Given the description of an element on the screen output the (x, y) to click on. 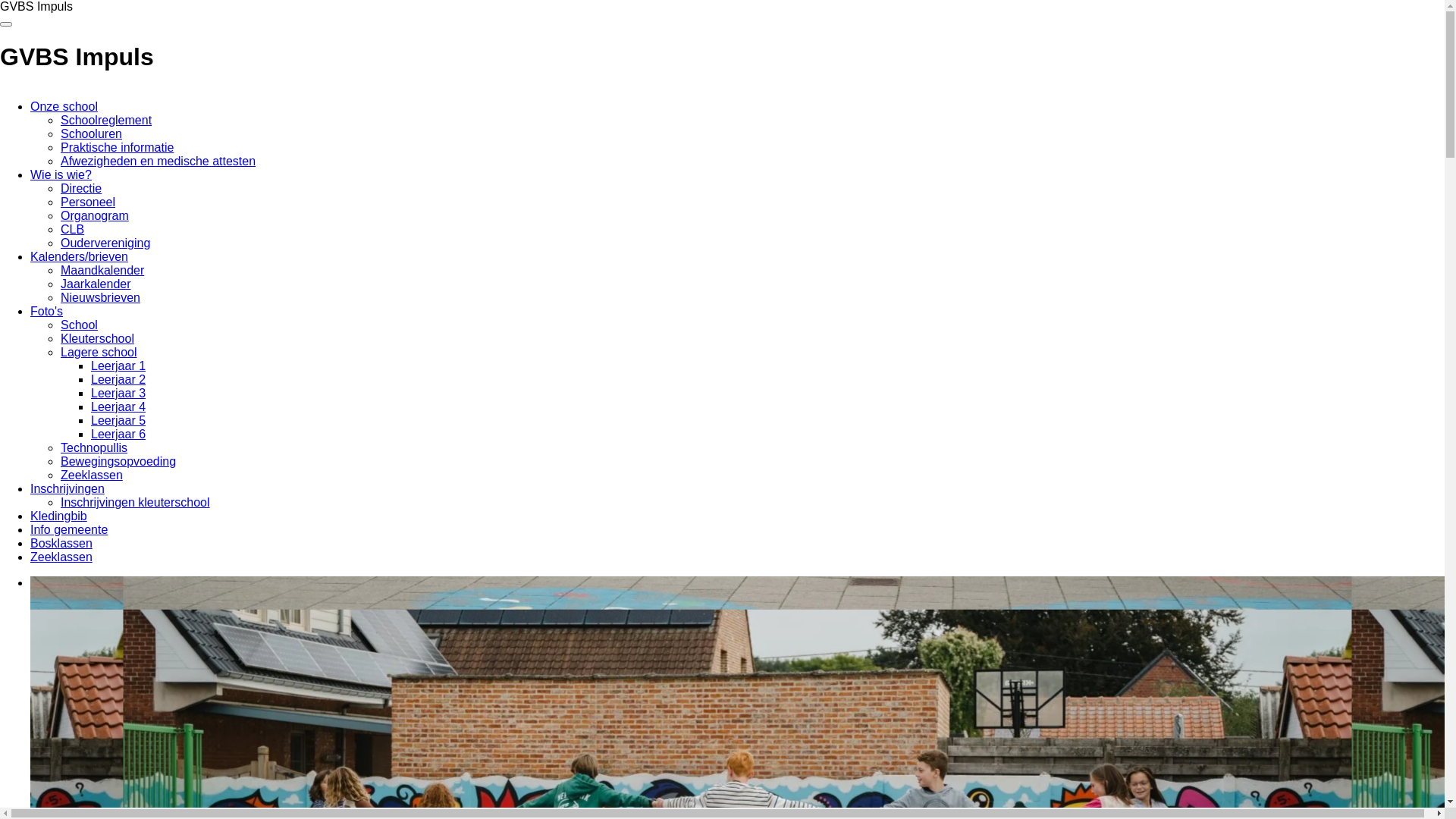
Oudervereniging Element type: text (105, 242)
Nieuwsbrieven Element type: text (100, 297)
Leerjaar 4 Element type: text (118, 406)
Wie is wie? Element type: text (60, 174)
Zeeklassen Element type: text (91, 474)
Leerjaar 6 Element type: text (118, 433)
Onze school Element type: text (63, 106)
Inschrijvingen kleuterschool Element type: text (135, 501)
Leerjaar 2 Element type: text (118, 379)
Kleuterschool Element type: text (97, 338)
Personeel Element type: text (87, 201)
Schooluren Element type: text (91, 133)
Inschrijvingen Element type: text (67, 488)
School Element type: text (78, 324)
Technopullis Element type: text (93, 447)
Organogram Element type: text (94, 215)
Directie Element type: text (80, 188)
Kledingbib Element type: text (58, 515)
Leerjaar 3 Element type: text (118, 392)
Lagere school Element type: text (98, 351)
Bosklassen Element type: text (61, 542)
CLB Element type: text (72, 228)
Foto's Element type: text (46, 310)
Zeeklassen Element type: text (61, 556)
Praktische informatie Element type: text (116, 147)
Bewegingsopvoeding Element type: text (117, 461)
Afwezigheden en medische attesten Element type: text (157, 160)
Info gemeente Element type: text (68, 529)
Maandkalender Element type: text (102, 269)
Leerjaar 5 Element type: text (118, 420)
Jaarkalender Element type: text (95, 283)
Leerjaar 1 Element type: text (118, 365)
Schoolreglement Element type: text (105, 119)
Kalenders/brieven Element type: text (79, 256)
